Given the description of an element on the screen output the (x, y) to click on. 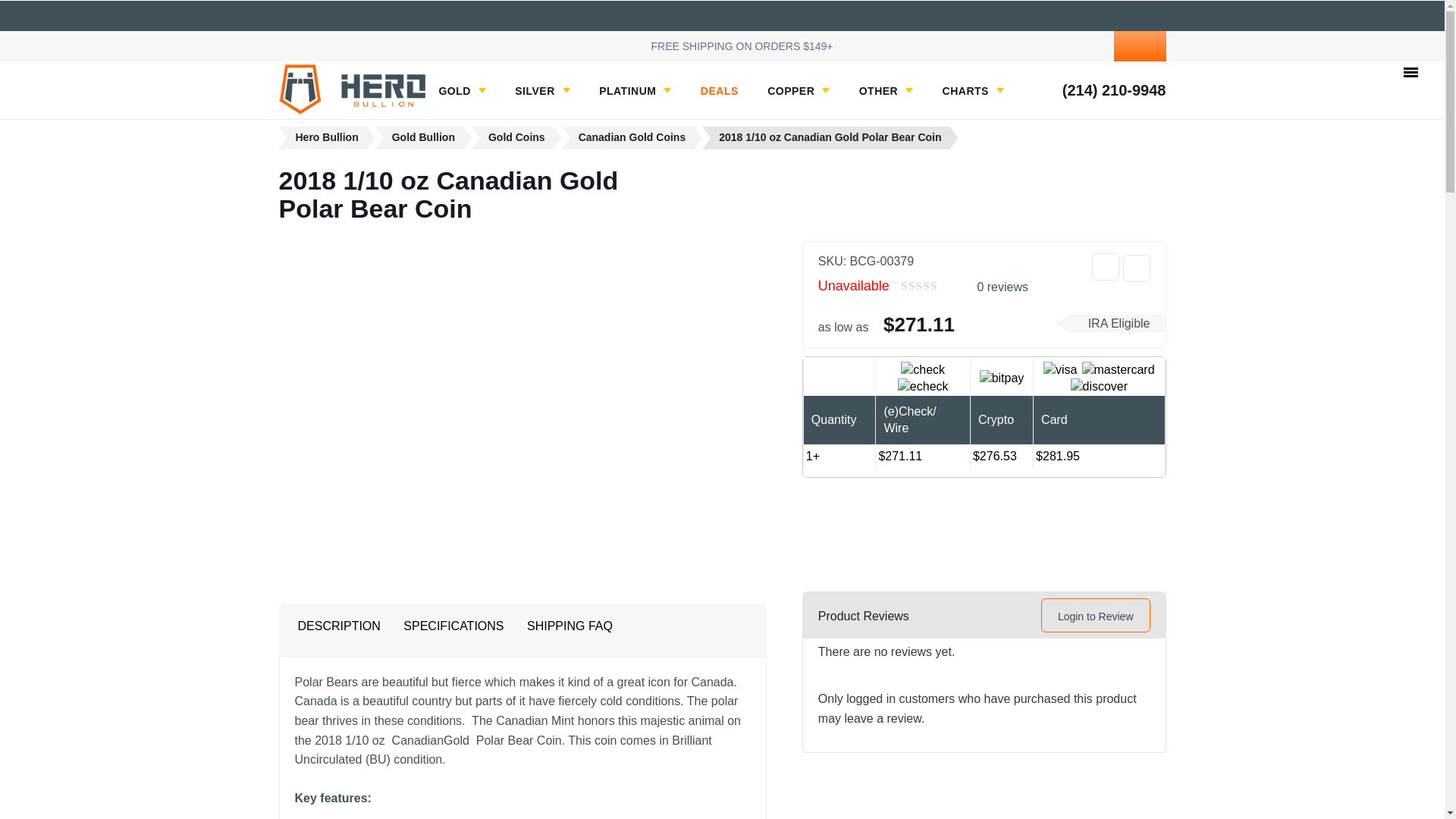
GOLD (461, 91)
Compare (1136, 267)
Cart (1139, 46)
Search (1026, 46)
SILVER (542, 91)
Share (1105, 266)
